Given the description of an element on the screen output the (x, y) to click on. 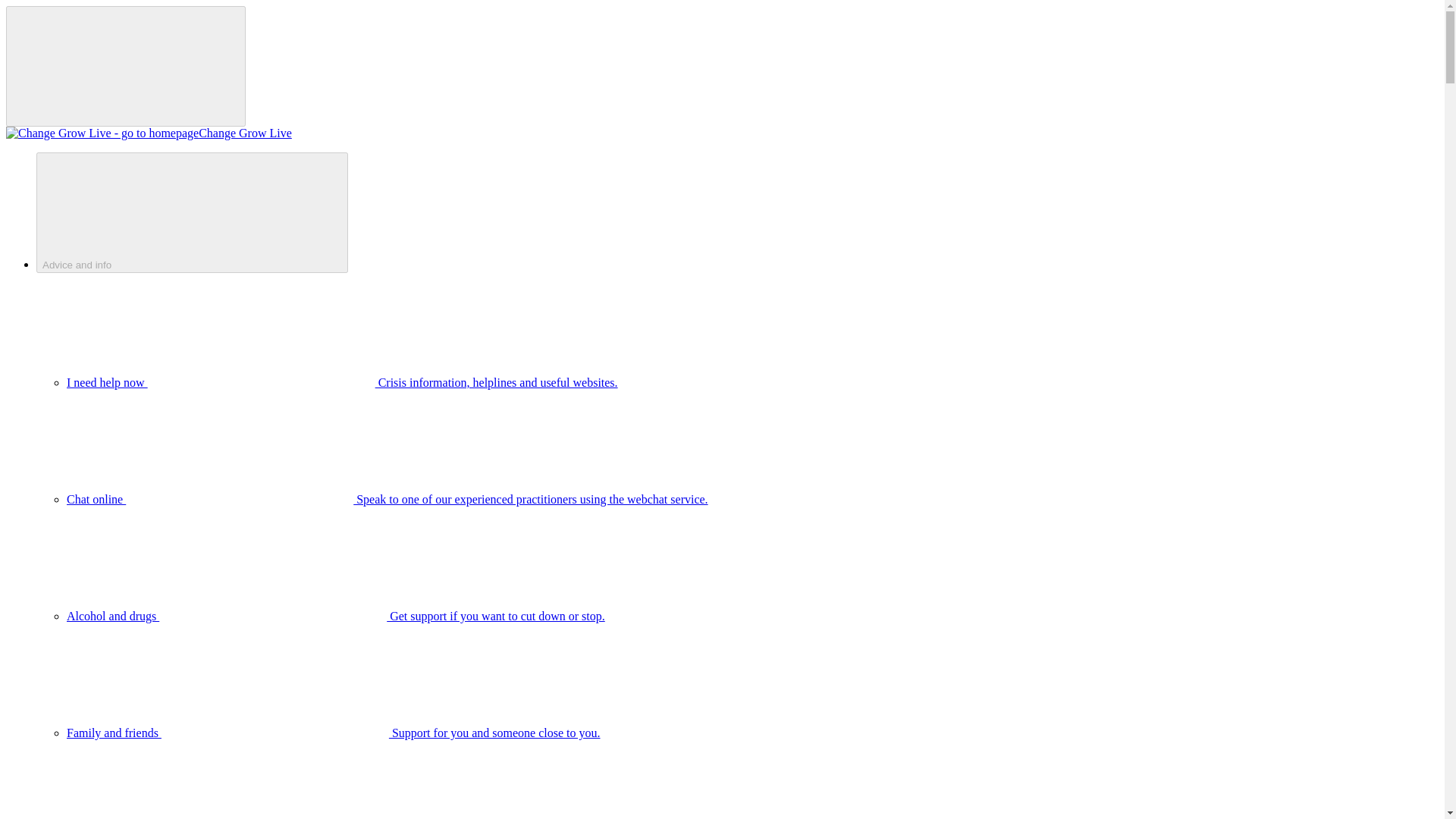
Advice and info (191, 212)
Change Grow Live (148, 132)
Family and friends Support for you and someone close to you. (332, 732)
